Given the description of an element on the screen output the (x, y) to click on. 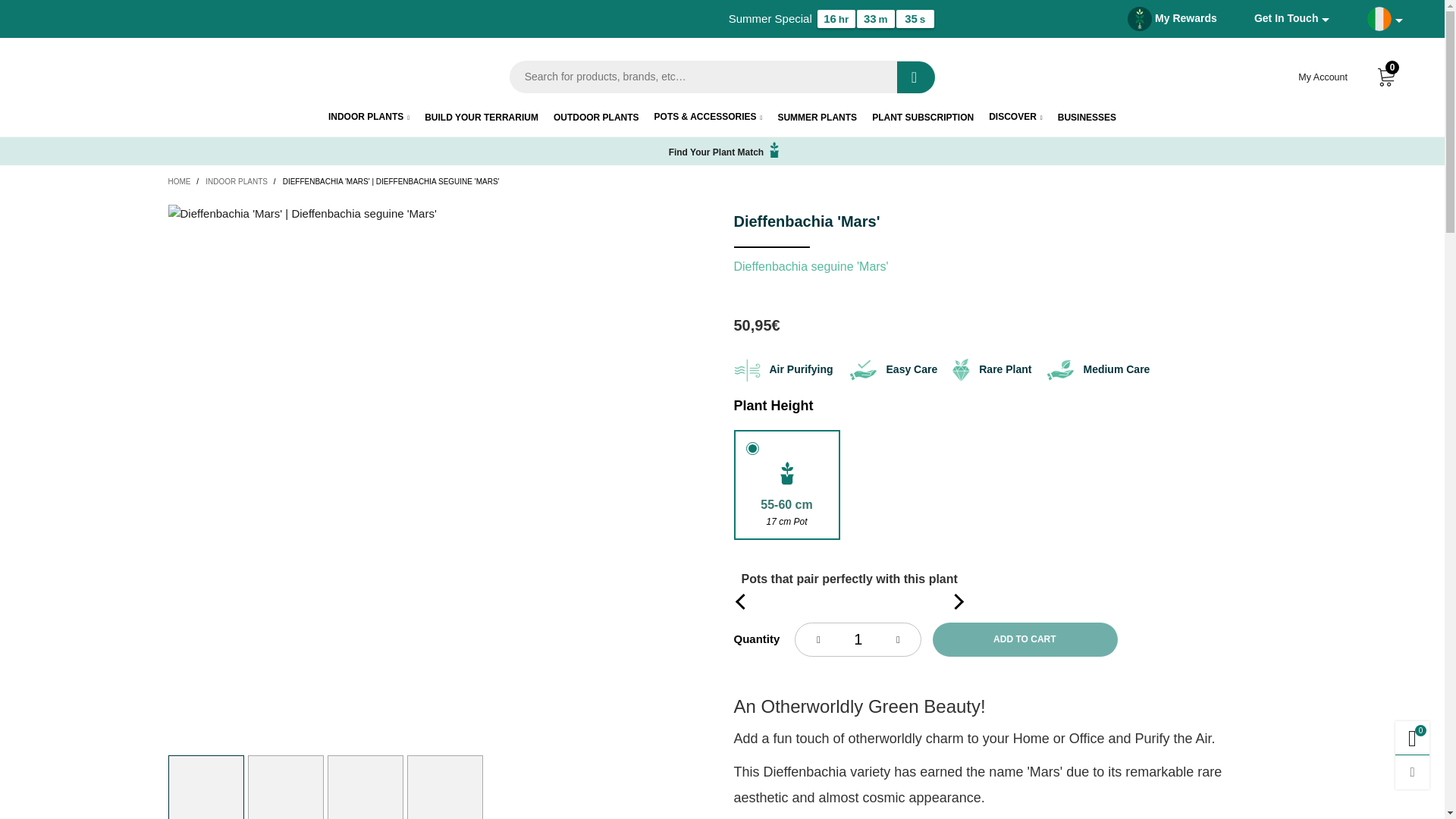
Businesses  (1087, 117)
0 (1385, 76)
Summer Plants (817, 117)
Outdoor Plants (596, 117)
Build Your Terrarium (481, 117)
Discover (1015, 117)
Cart (1385, 76)
INDOOR PLANTS (369, 117)
Search (915, 77)
Indoor Plants (369, 117)
My Account (1323, 75)
Plant Subscription (923, 117)
1 (858, 639)
